Given the description of an element on the screen output the (x, y) to click on. 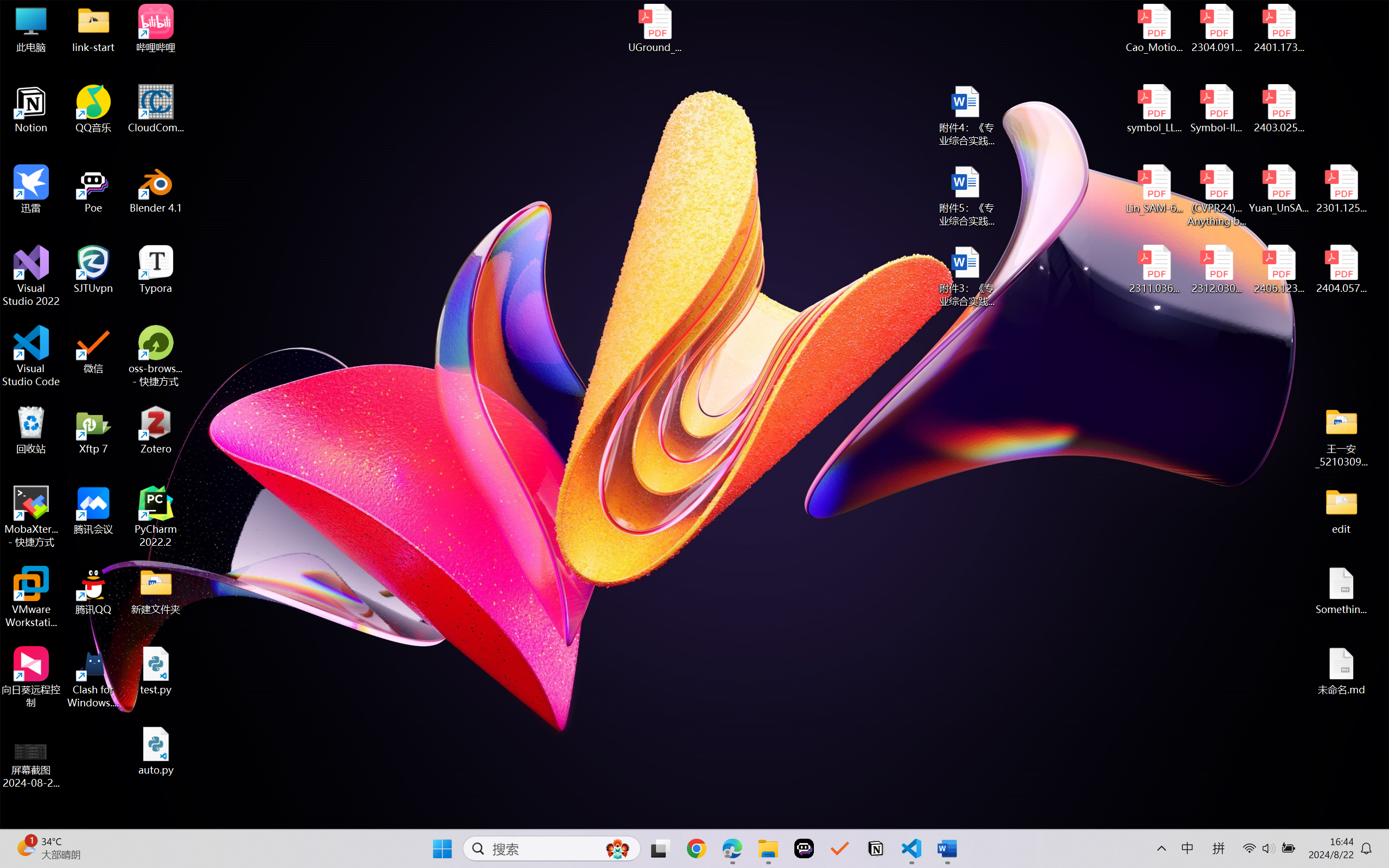
2301.12597v3.pdf (1340, 189)
CloudCompare (156, 109)
auto.py (156, 751)
edit (1340, 510)
